Given the description of an element on the screen output the (x, y) to click on. 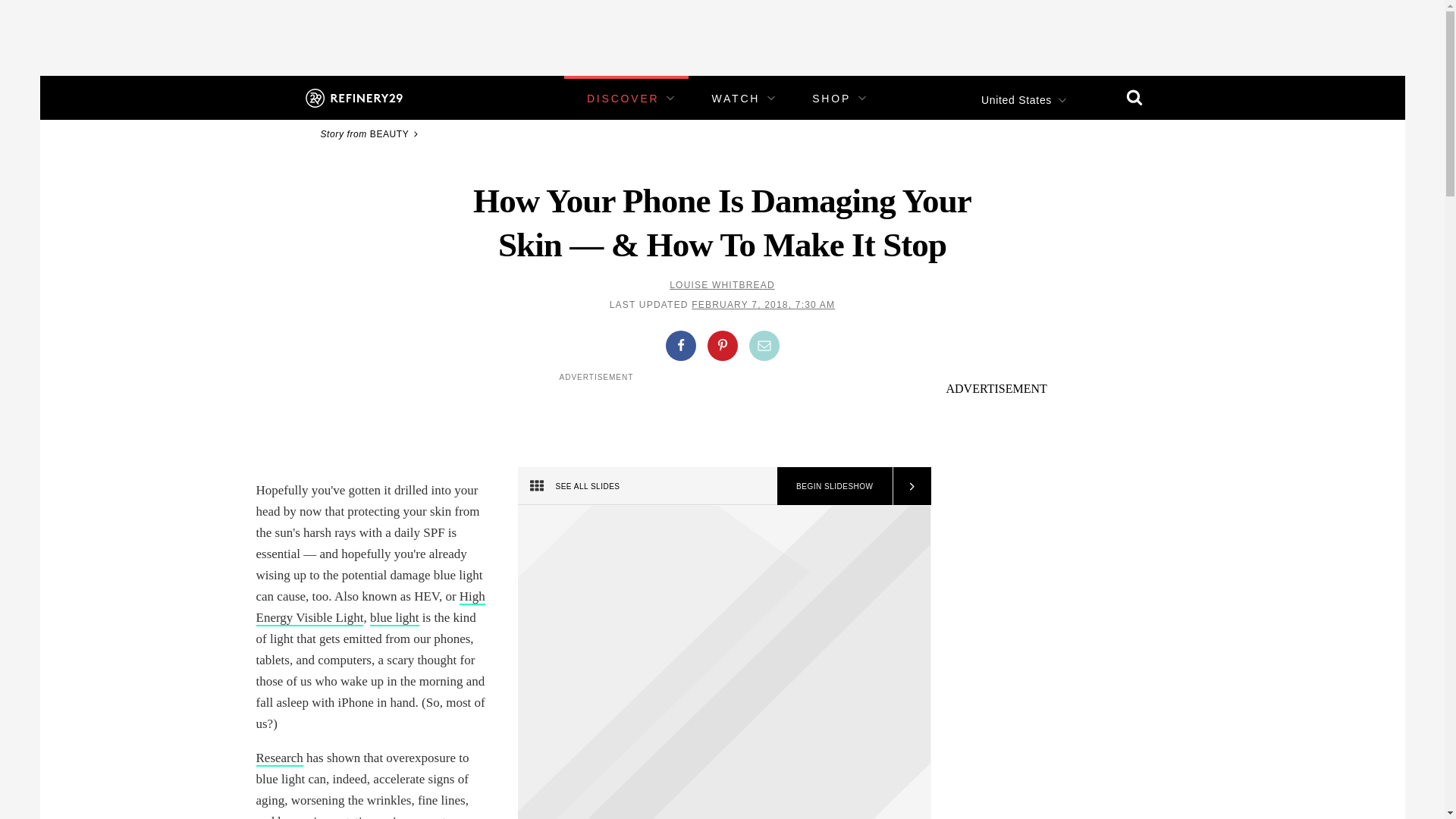
blue light (394, 618)
LOUISE WHITBREAD (721, 285)
DISCOVER (622, 98)
Research (279, 758)
WATCH (735, 98)
Begin Slideshow (834, 485)
High Energy Visible Light (370, 607)
Share on Pinterest (721, 345)
Story from BEAUTY (371, 133)
Next Slide (910, 485)
SHOP (831, 98)
Share on Facebook (680, 345)
BEGIN SLIDESHOW (834, 485)
FEBRUARY 7, 2018, 7:30 AM (762, 304)
Share by Email (763, 345)
